Given the description of an element on the screen output the (x, y) to click on. 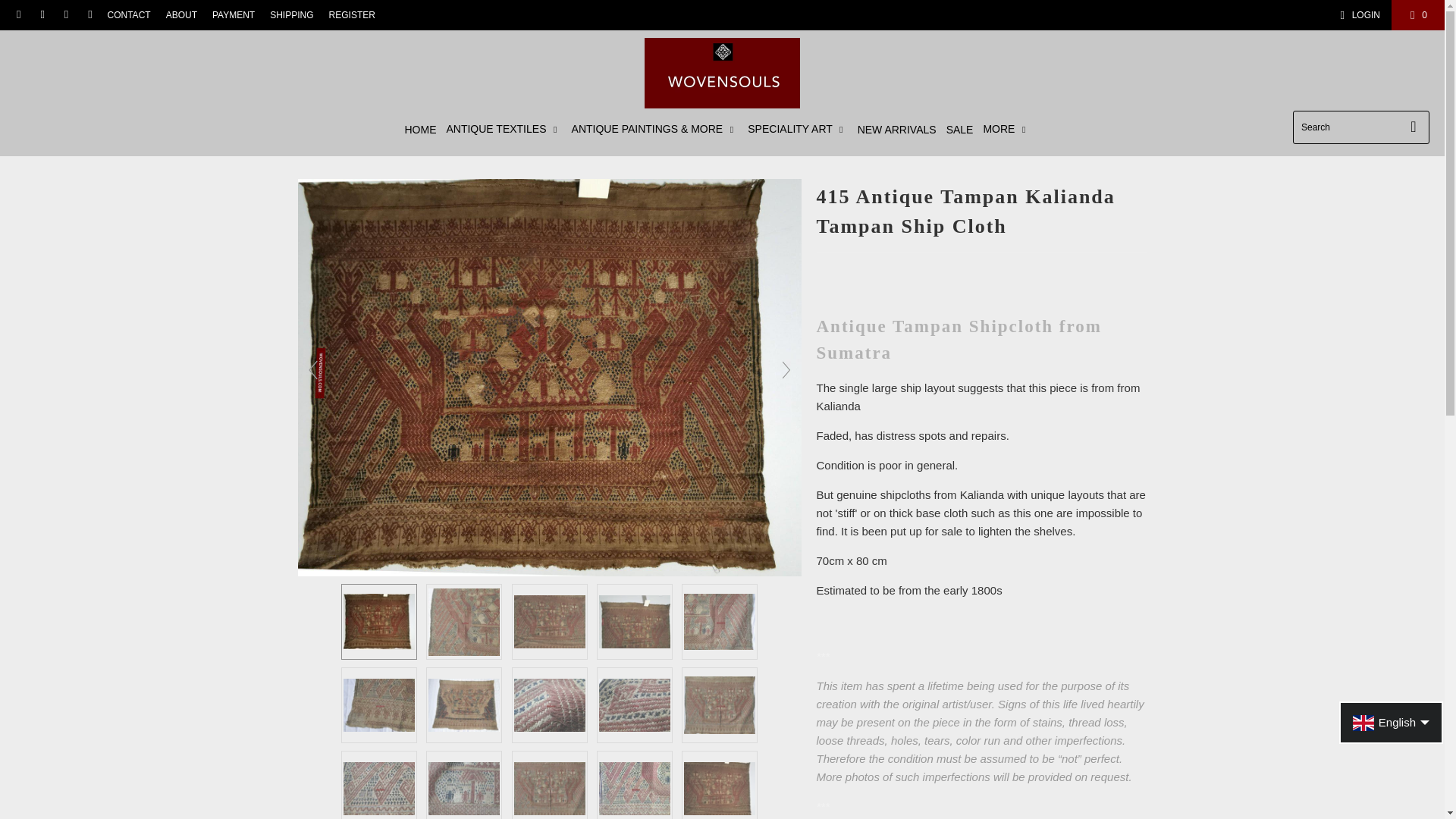
My Account  (1357, 14)
